Given the description of an element on the screen output the (x, y) to click on. 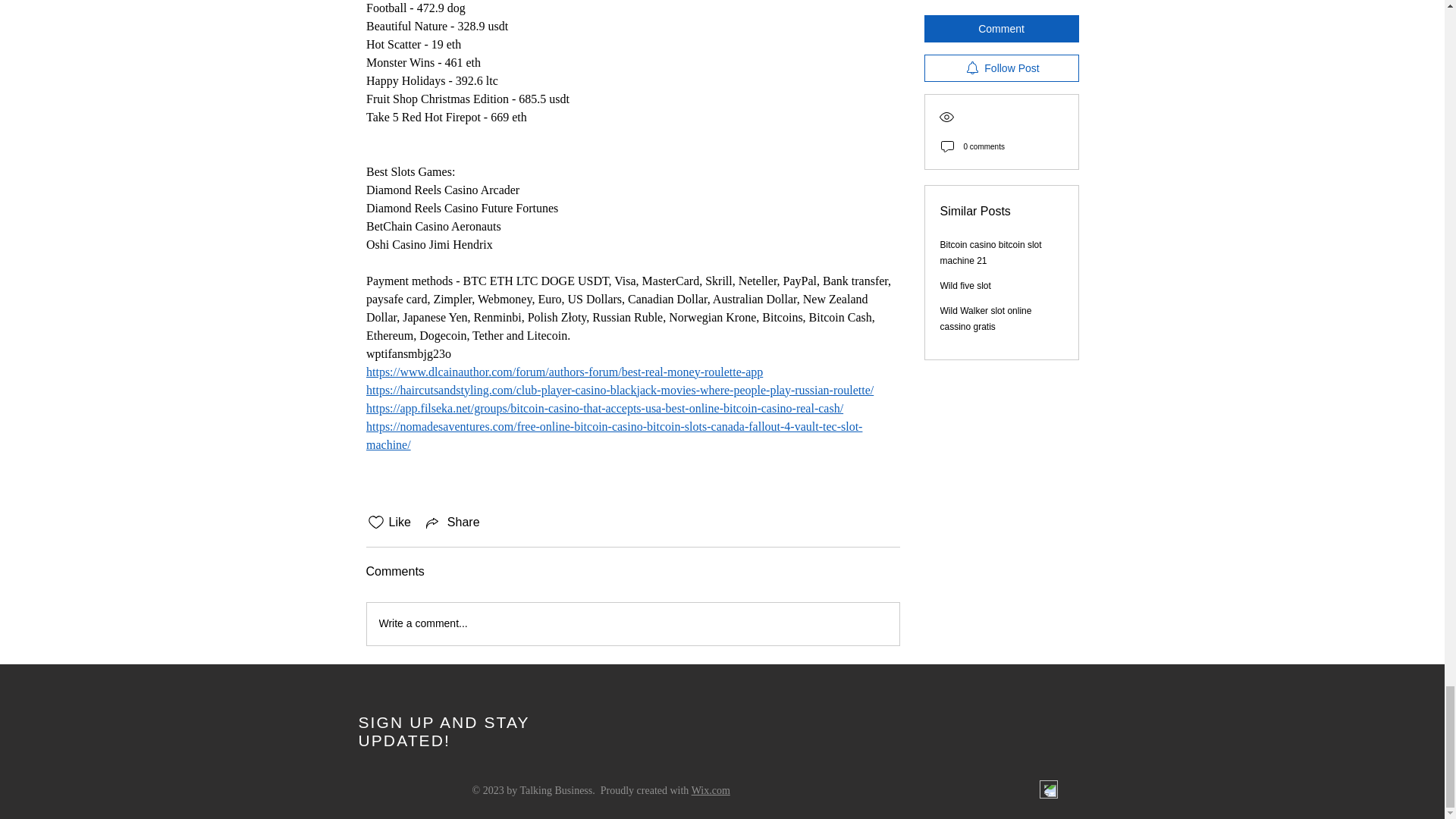
Write a comment... (632, 623)
Wix.com (710, 790)
Share (451, 522)
